Given the description of an element on the screen output the (x, y) to click on. 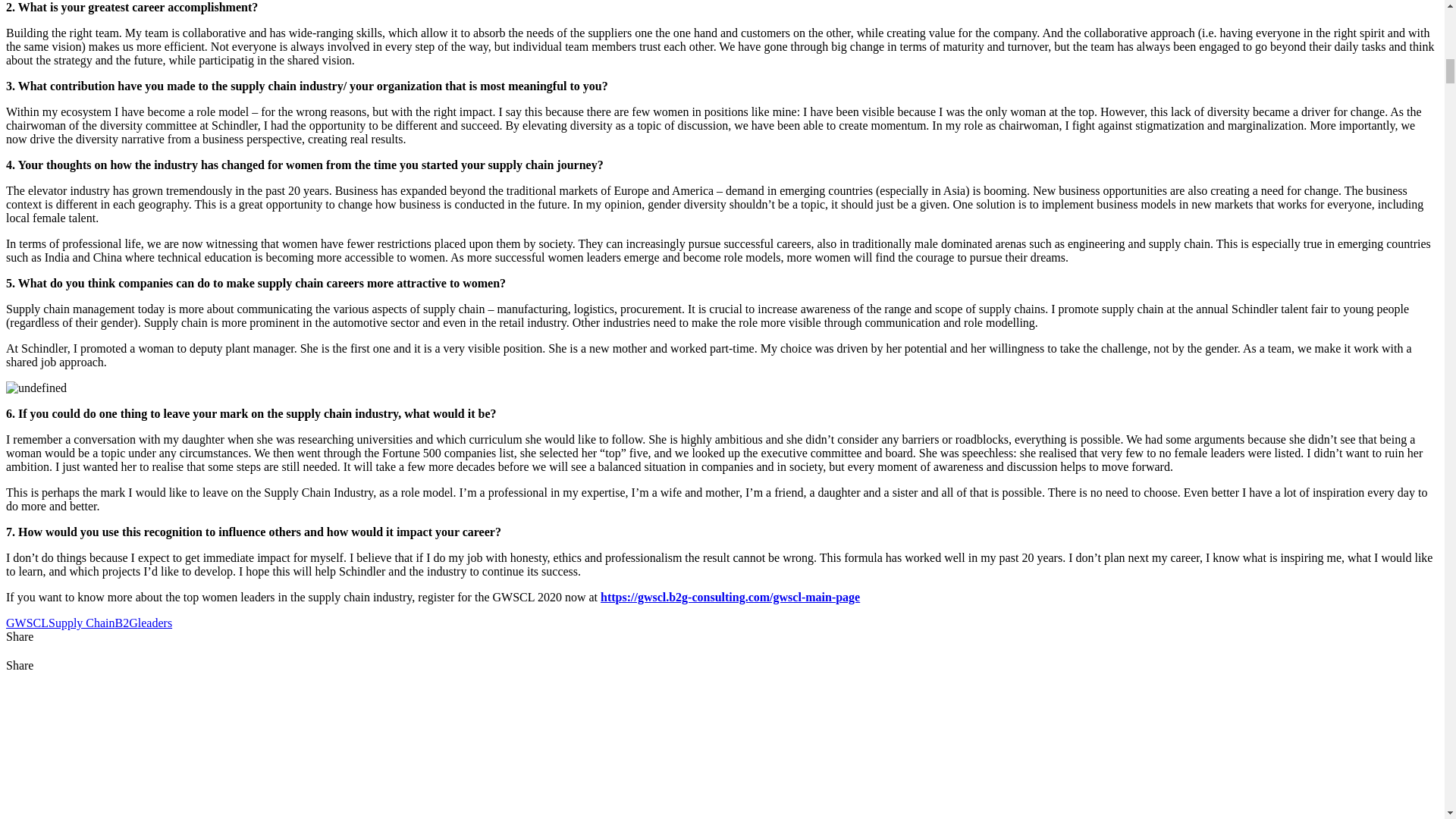
GWSCL (26, 622)
leaders (154, 622)
Supply Chain (81, 622)
B2G (126, 622)
